Given the description of an element on the screen output the (x, y) to click on. 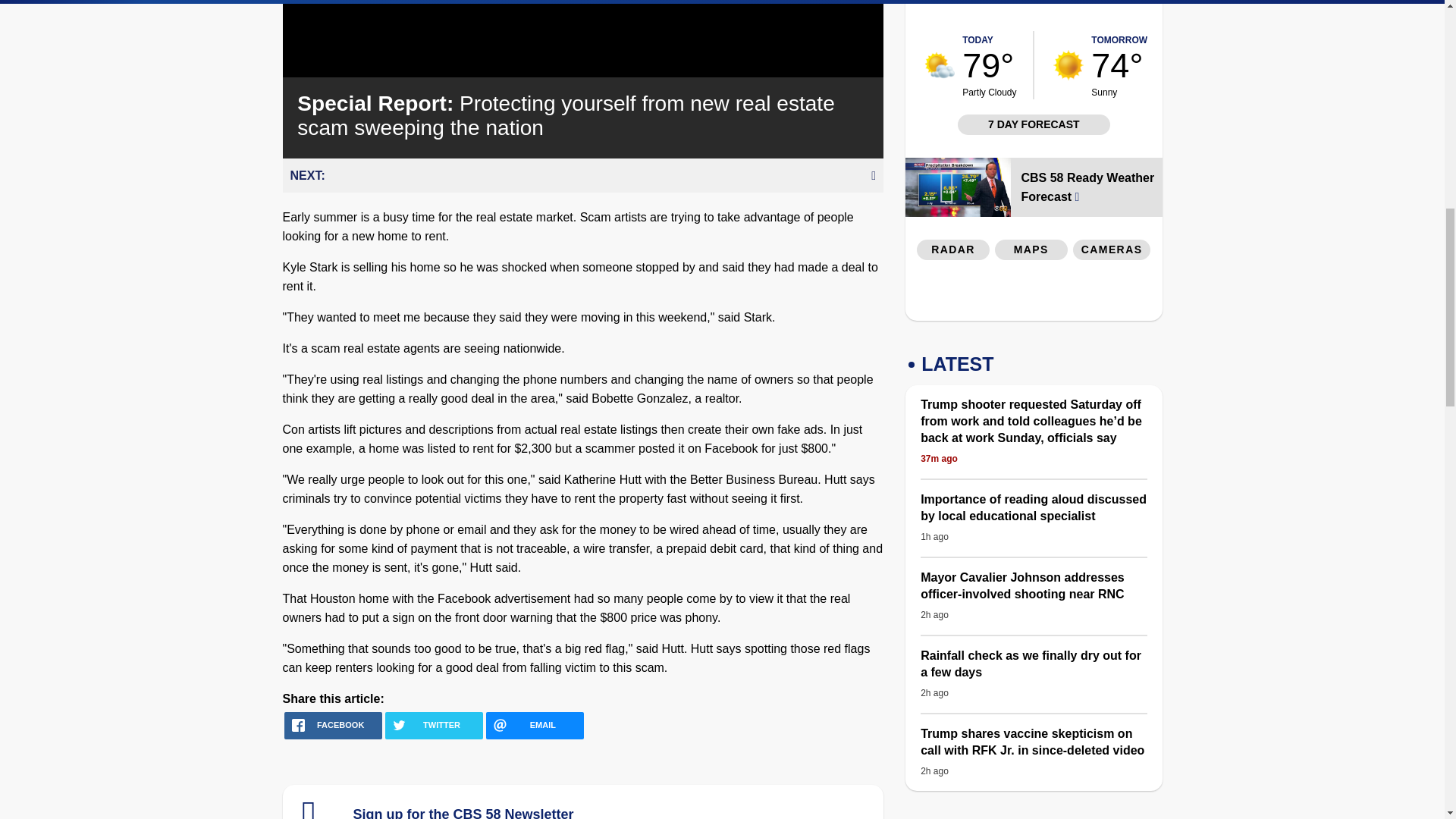
3rd party ad content (1112, 11)
weather (989, 65)
weather (1067, 64)
weather (939, 64)
weather (1118, 65)
3rd party ad content (1034, 293)
